Given the description of an element on the screen output the (x, y) to click on. 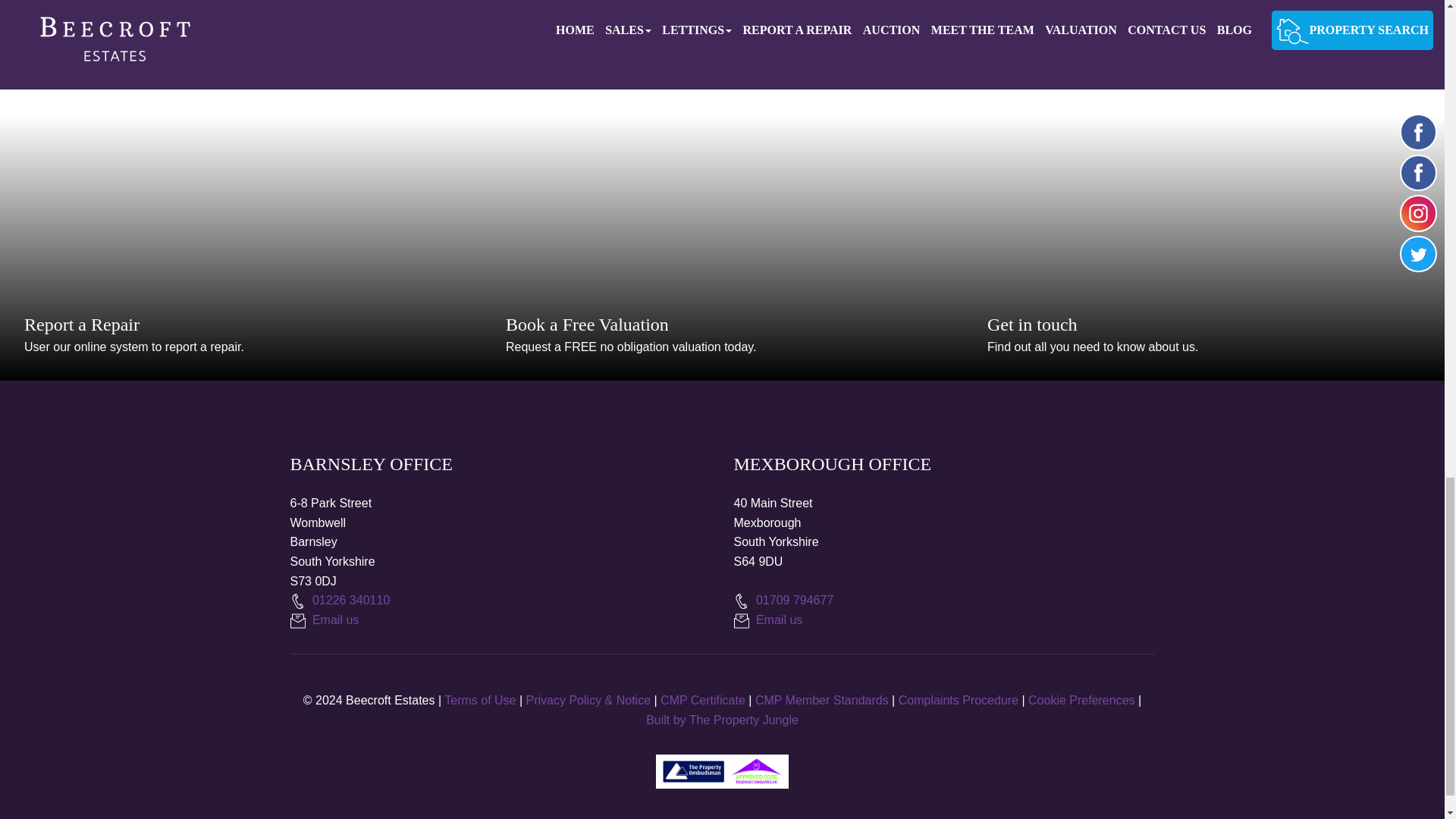
Email us (783, 599)
CMP Certificate (323, 619)
Website Built by The Property Jungle (703, 699)
CMP Member Standards (721, 719)
Email us (821, 699)
